Given the description of an element on the screen output the (x, y) to click on. 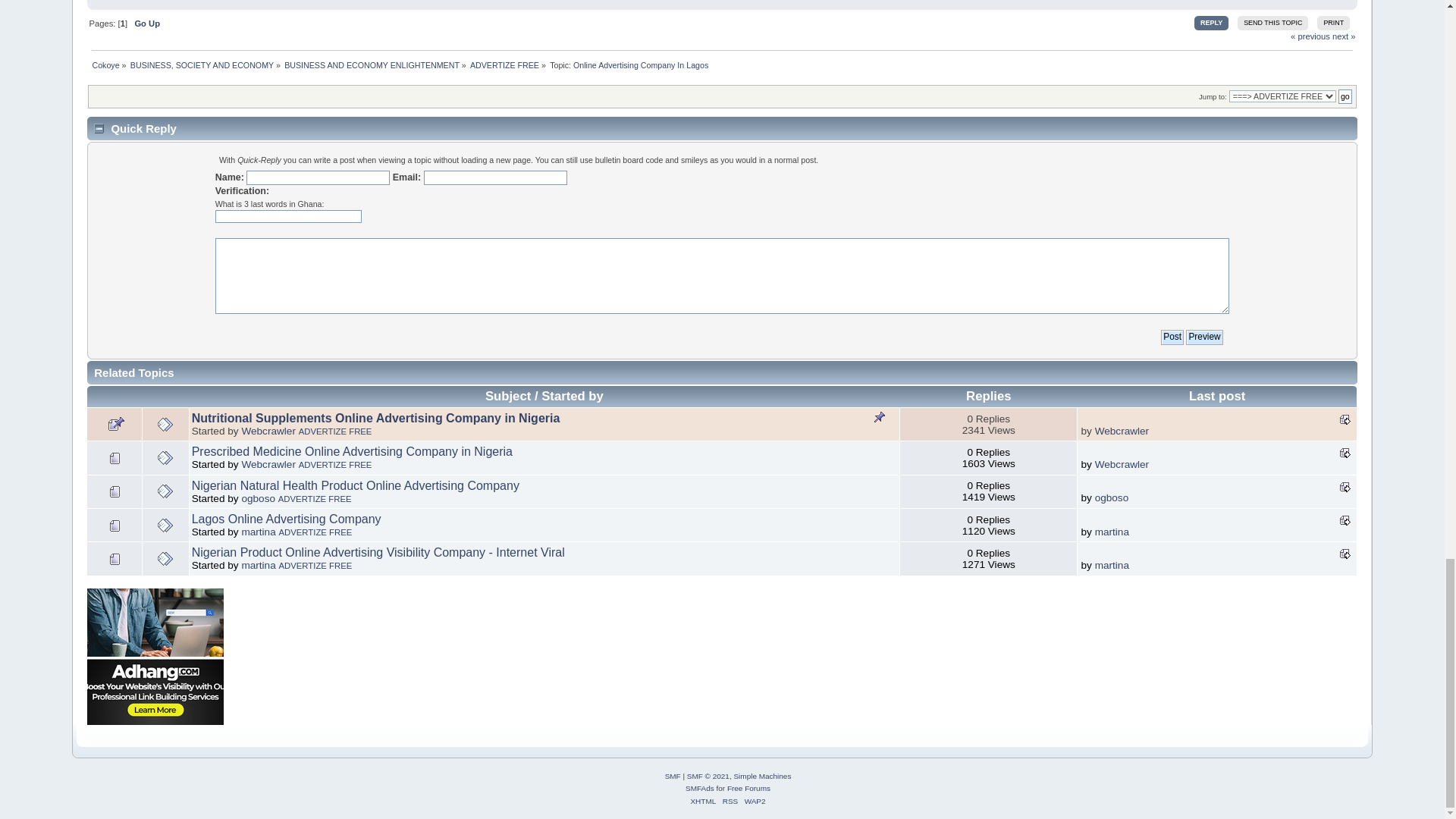
Last post (1345, 419)
Last post (1345, 452)
View the profile of Webcrawler (268, 464)
Last post (1345, 519)
Simple Machines Forum (673, 776)
License (708, 776)
Last post (1345, 486)
View the profile of martina (258, 531)
View the profile of ogboso (258, 498)
Post (1171, 337)
View the profile of martina (258, 564)
Last post (1345, 553)
Simple Machines (761, 776)
go (1345, 96)
View the profile of Webcrawler (268, 430)
